Given the description of an element on the screen output the (x, y) to click on. 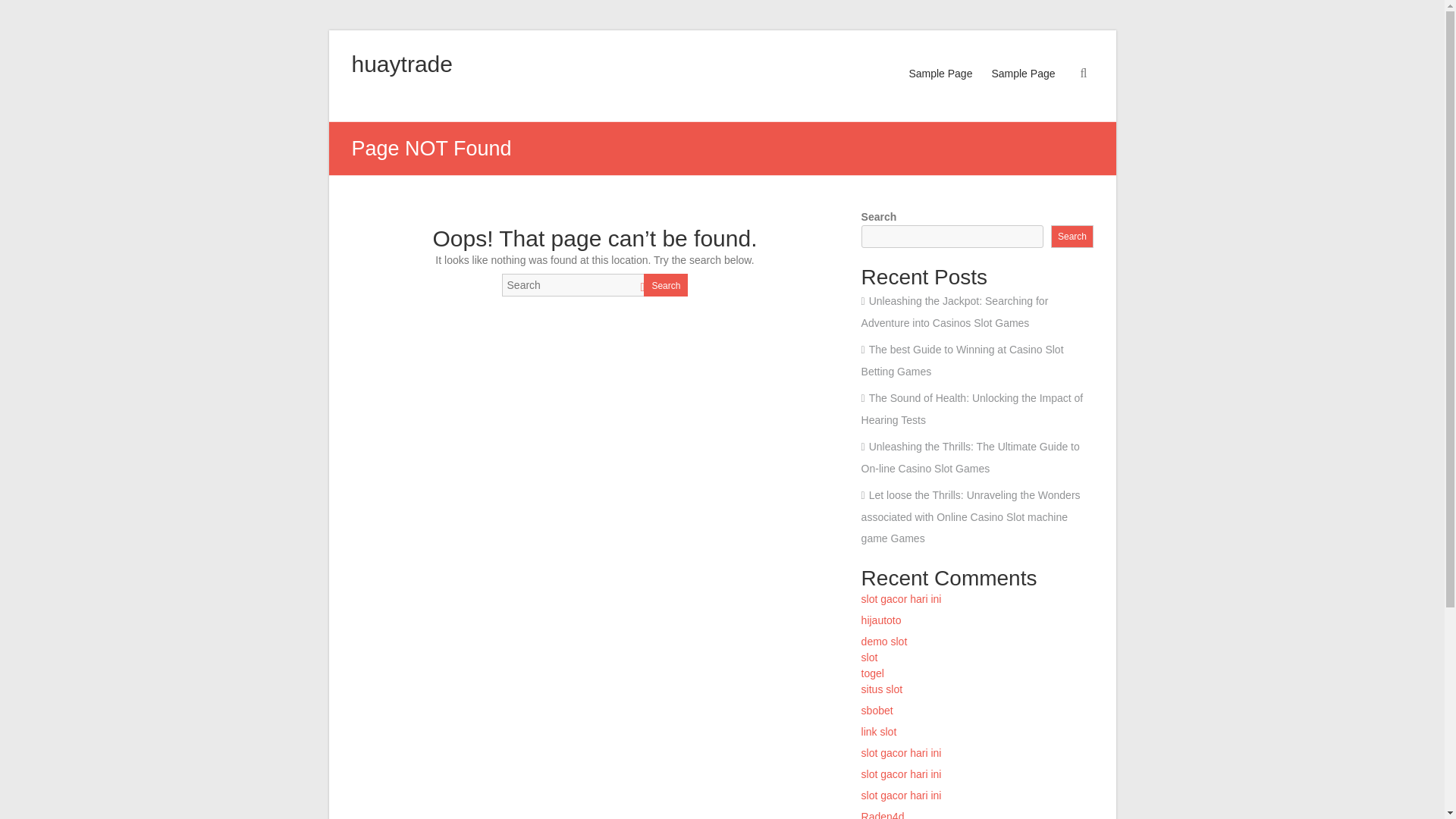
Sample Page (1022, 87)
slot gacor hari ini (901, 774)
huaytrade (402, 63)
Sample Page (940, 87)
Search (1072, 236)
slot gacor hari ini  (902, 795)
demo slot (884, 641)
sbobet (877, 710)
slot (869, 657)
huaytrade (402, 63)
